Given the description of an element on the screen output the (x, y) to click on. 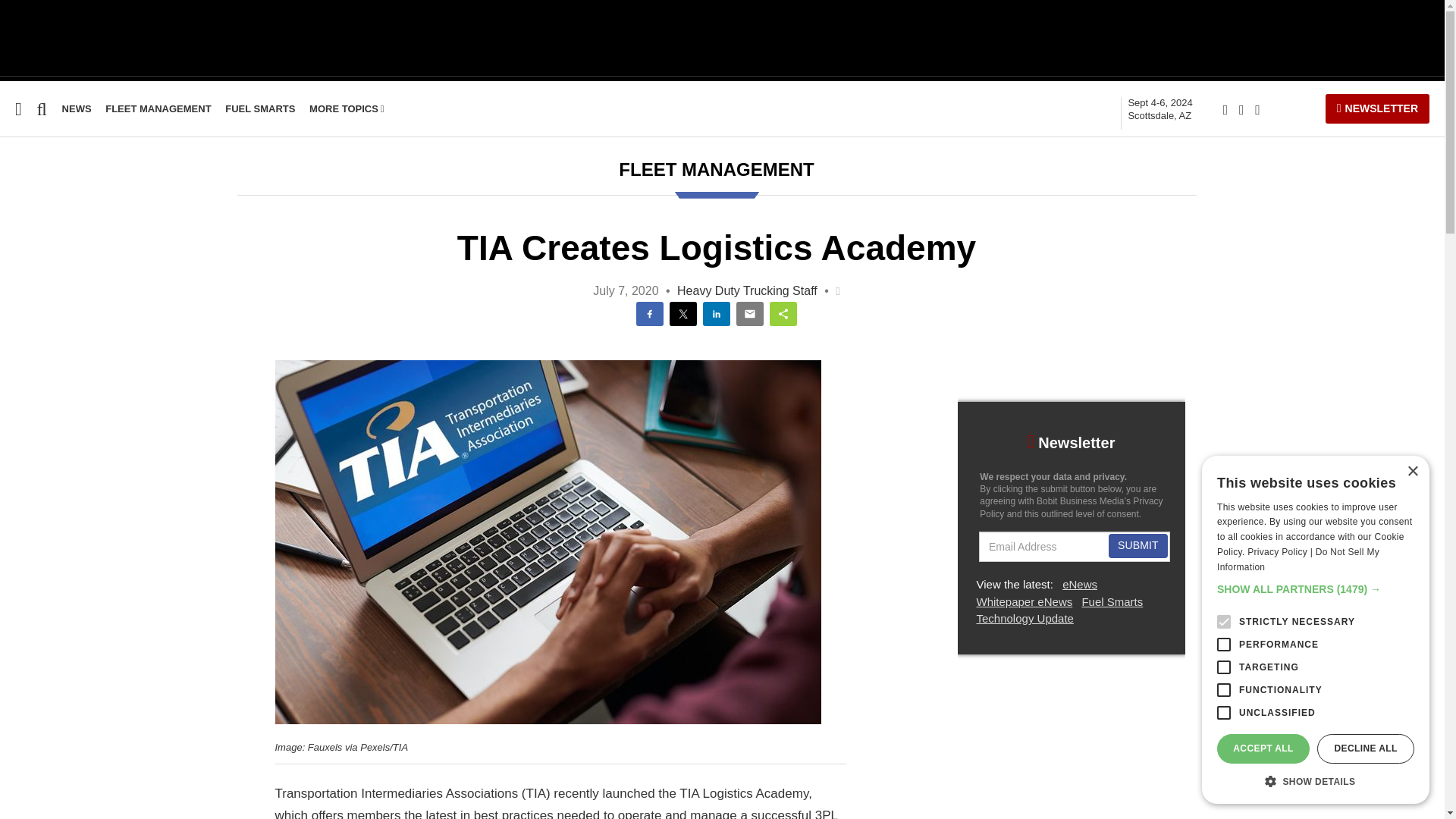
FUEL SMARTS (260, 108)
Safety (17, 264)
Equipment (31, 236)
Sept 4-6, 2024 (1159, 109)
Equipment (31, 236)
Fuel Smarts (260, 108)
Fuel Smarts (34, 323)
Fuel Smarts (34, 323)
Safety (17, 264)
Fleet Management (157, 108)
Operations (32, 351)
Home (16, 206)
MORE TOPICS (346, 108)
Drivers (20, 293)
Home (16, 206)
